Given the description of an element on the screen output the (x, y) to click on. 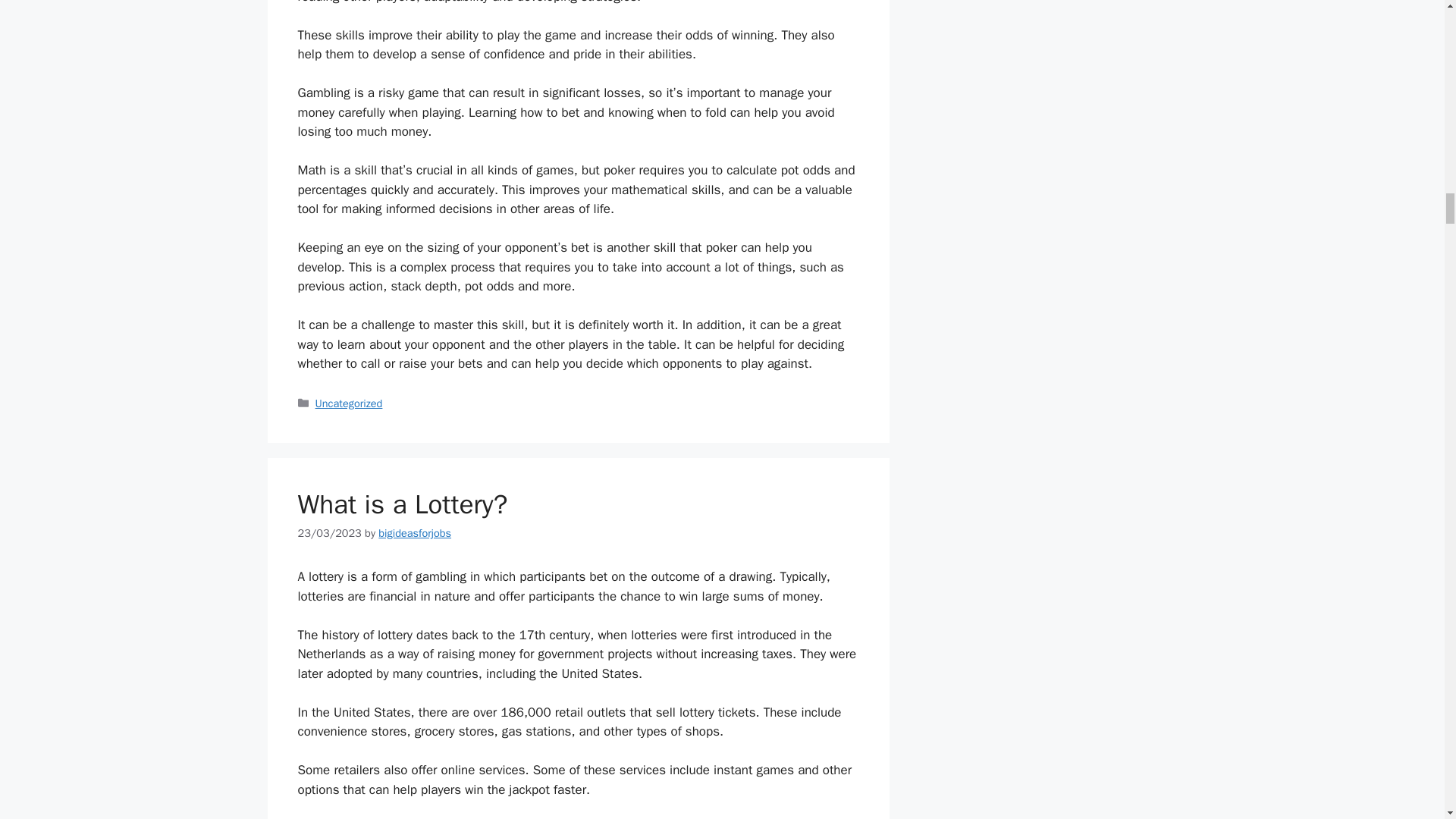
View all posts by bigideasforjobs (414, 532)
bigideasforjobs (414, 532)
What is a Lottery? (401, 503)
Uncategorized (348, 403)
